Given the description of an element on the screen output the (x, y) to click on. 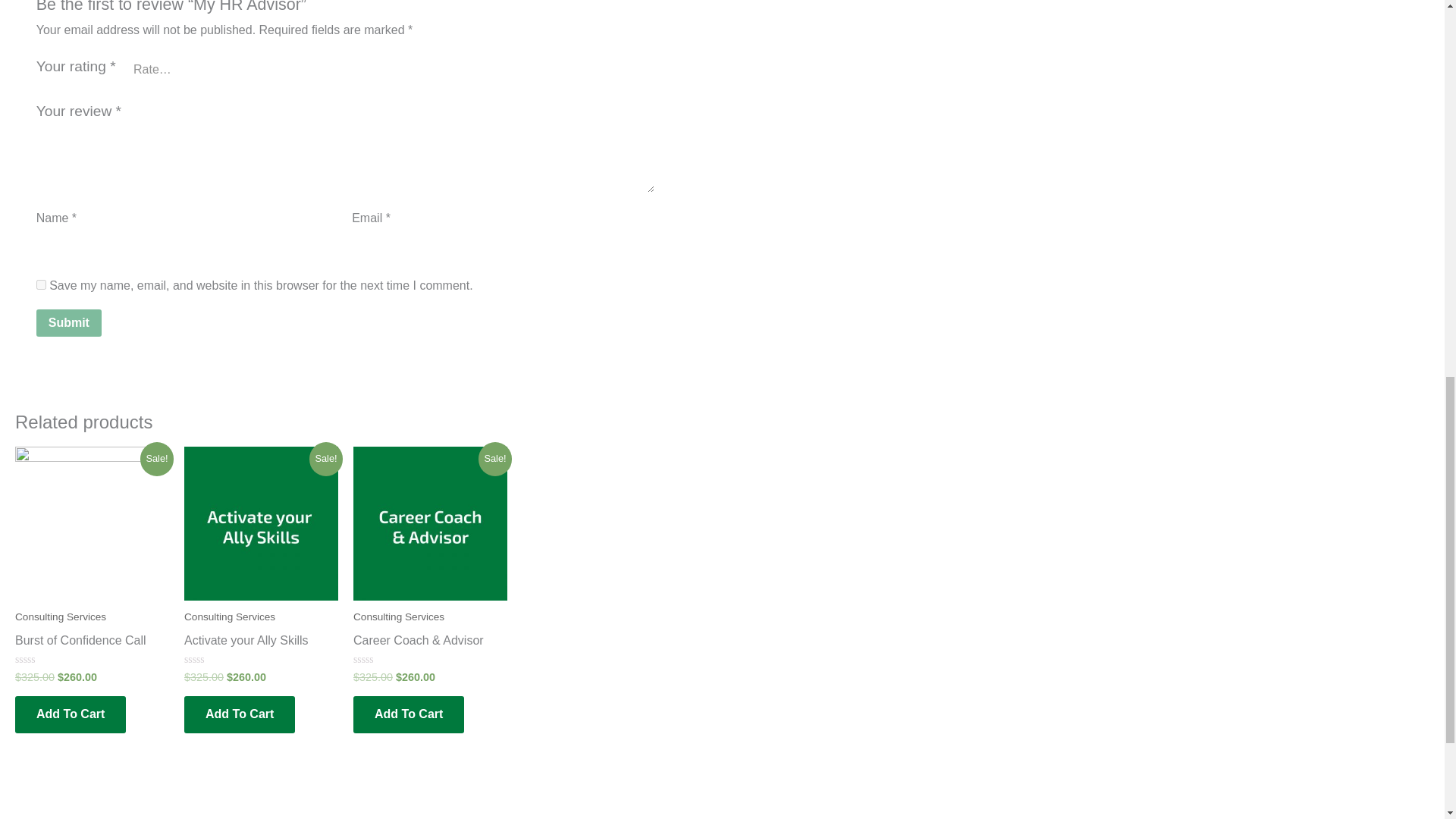
Add To Cart (69, 714)
Burst of Confidence Call (91, 644)
Submit (68, 322)
yes (41, 284)
Submit (68, 322)
